Given the description of an element on the screen output the (x, y) to click on. 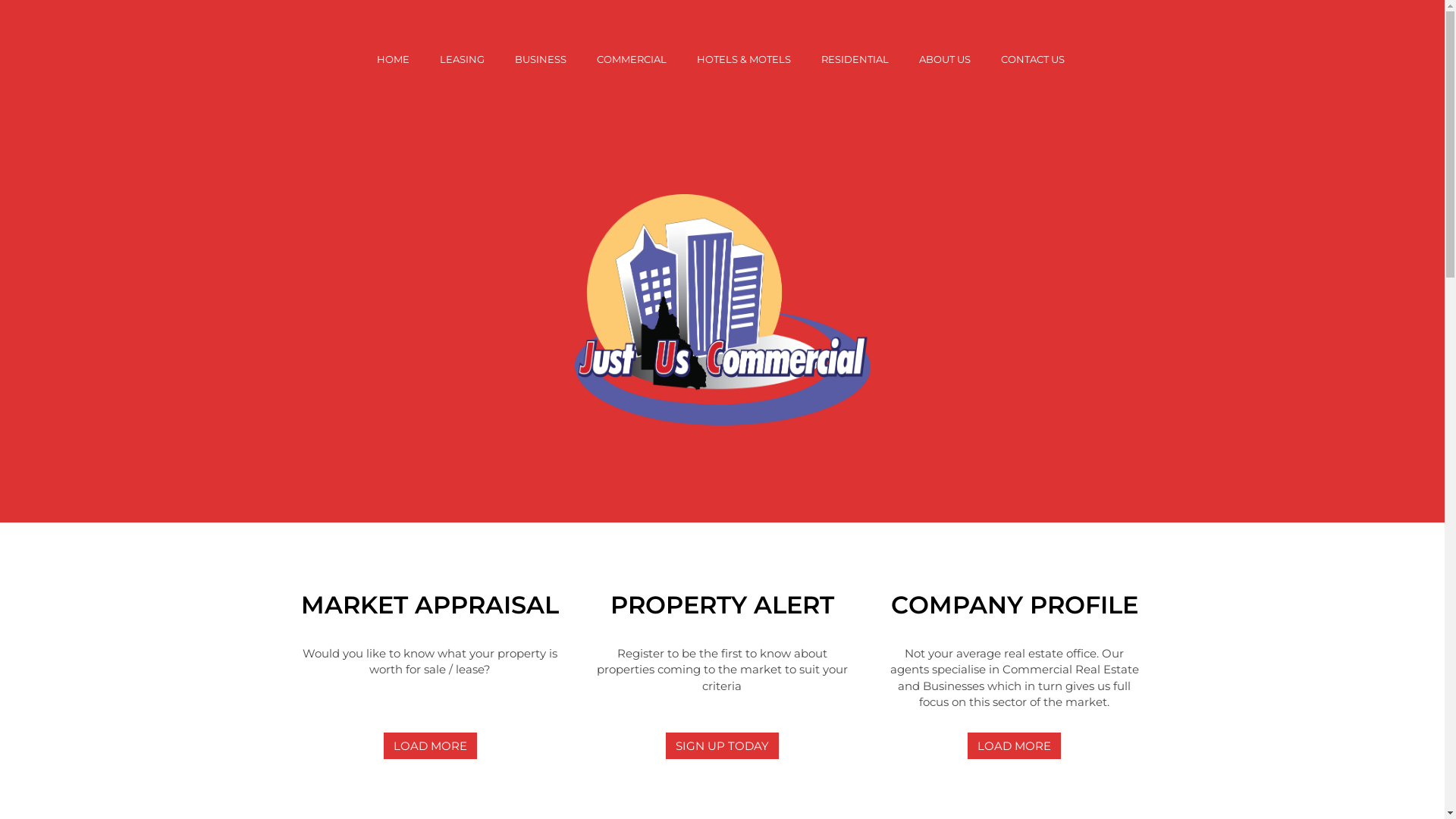
LOAD MORE Element type: text (1013, 745)
COMMERCIAL Element type: text (630, 58)
MARKET APPRAISAL Element type: text (429, 606)
RESIDENTIAL Element type: text (854, 58)
LEASING Element type: text (461, 58)
PROPERTY ALERT Element type: text (722, 606)
HOTELS & MOTELS Element type: text (742, 58)
LOAD MORE Element type: text (429, 745)
ABOUT US Element type: text (944, 58)
SIGN UP TODAY Element type: text (721, 745)
HOME Element type: text (391, 58)
BUSINESS Element type: text (539, 58)
COMPANY PROFILE Element type: text (1014, 606)
CONTACT US Element type: text (1032, 58)
